Given the description of an element on the screen output the (x, y) to click on. 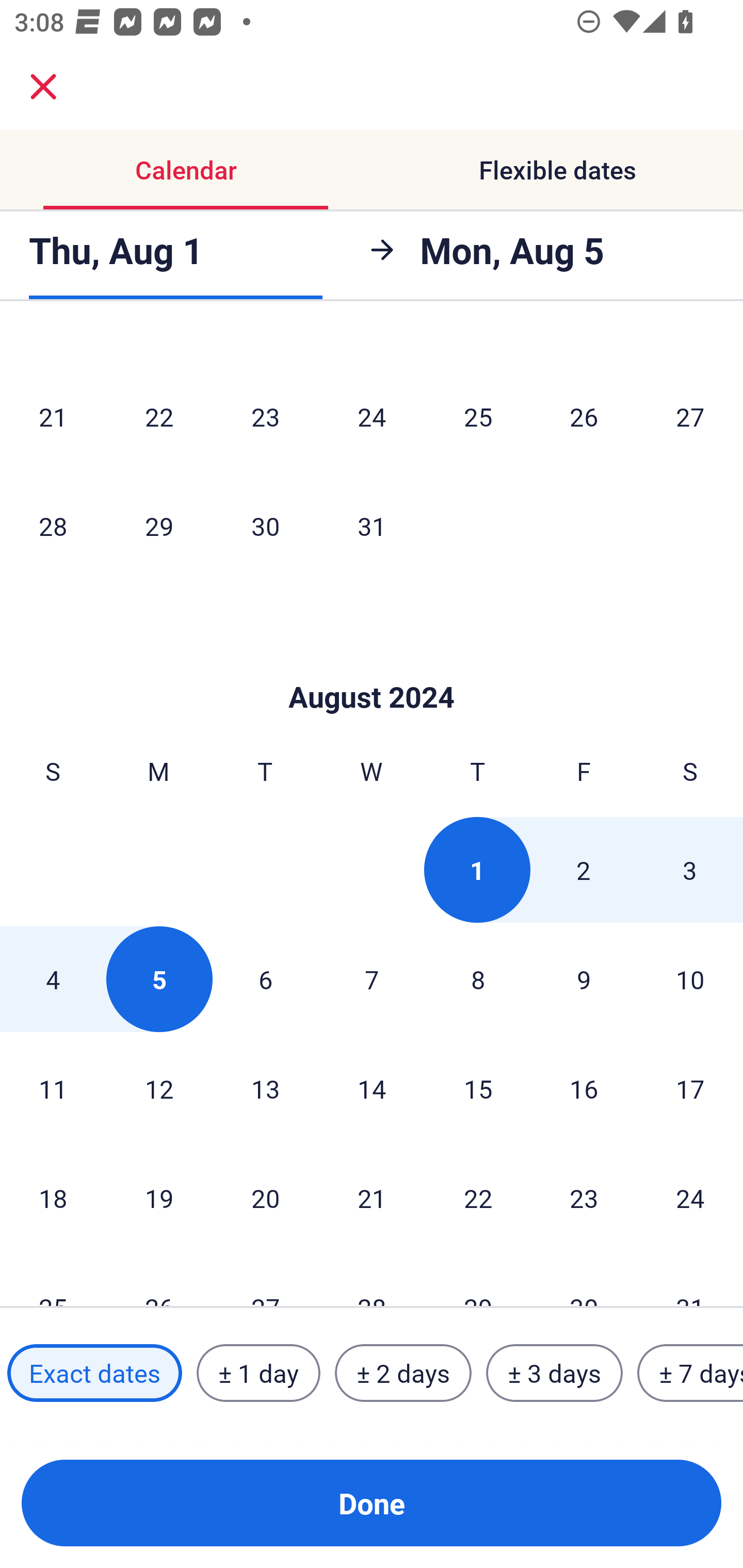
close. (43, 86)
Flexible dates (557, 170)
21 Sunday, July 21, 2024 (53, 415)
22 Monday, July 22, 2024 (159, 415)
23 Tuesday, July 23, 2024 (265, 415)
24 Wednesday, July 24, 2024 (371, 415)
25 Thursday, July 25, 2024 (477, 415)
26 Friday, July 26, 2024 (584, 415)
27 Saturday, July 27, 2024 (690, 415)
28 Sunday, July 28, 2024 (53, 525)
29 Monday, July 29, 2024 (159, 525)
30 Tuesday, July 30, 2024 (265, 525)
31 Wednesday, July 31, 2024 (371, 525)
Skip to Done (371, 666)
6 Tuesday, August 6, 2024 (265, 978)
7 Wednesday, August 7, 2024 (371, 978)
8 Thursday, August 8, 2024 (477, 978)
9 Friday, August 9, 2024 (584, 978)
10 Saturday, August 10, 2024 (690, 978)
11 Sunday, August 11, 2024 (53, 1088)
12 Monday, August 12, 2024 (159, 1088)
13 Tuesday, August 13, 2024 (265, 1088)
14 Wednesday, August 14, 2024 (371, 1088)
15 Thursday, August 15, 2024 (477, 1088)
16 Friday, August 16, 2024 (584, 1088)
17 Saturday, August 17, 2024 (690, 1088)
18 Sunday, August 18, 2024 (53, 1197)
19 Monday, August 19, 2024 (159, 1197)
20 Tuesday, August 20, 2024 (265, 1197)
21 Wednesday, August 21, 2024 (371, 1197)
22 Thursday, August 22, 2024 (477, 1197)
23 Friday, August 23, 2024 (584, 1197)
24 Saturday, August 24, 2024 (690, 1197)
Exact dates (94, 1372)
± 1 day (258, 1372)
± 2 days (403, 1372)
± 3 days (553, 1372)
± 7 days (690, 1372)
Done (371, 1502)
